Given the description of an element on the screen output the (x, y) to click on. 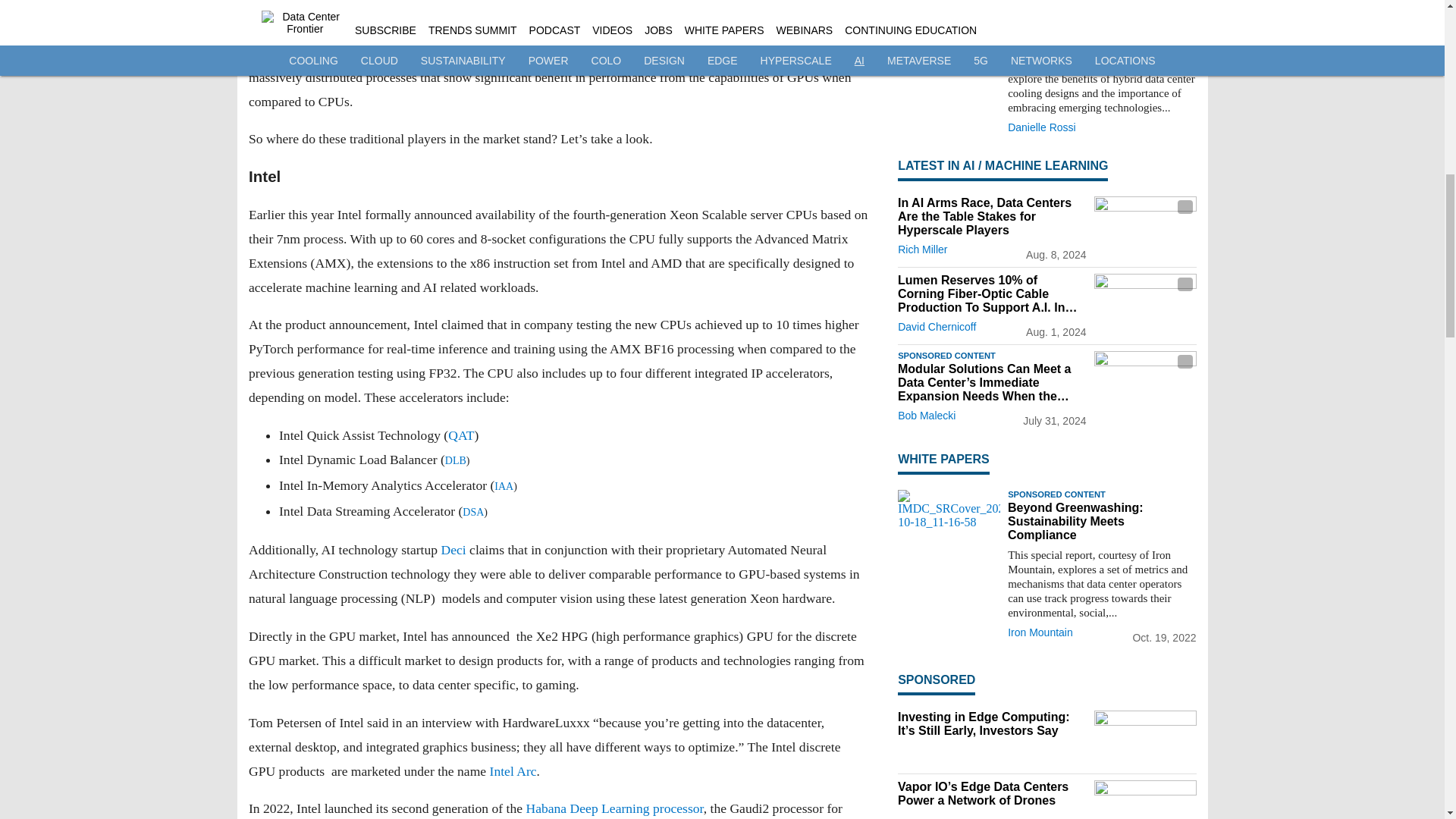
Intel Arc (512, 770)
Deci (453, 549)
IAA (504, 486)
DLB (454, 460)
DSA (473, 511)
Habana Deep Learning processor (614, 807)
QAT (461, 435)
